Given the description of an element on the screen output the (x, y) to click on. 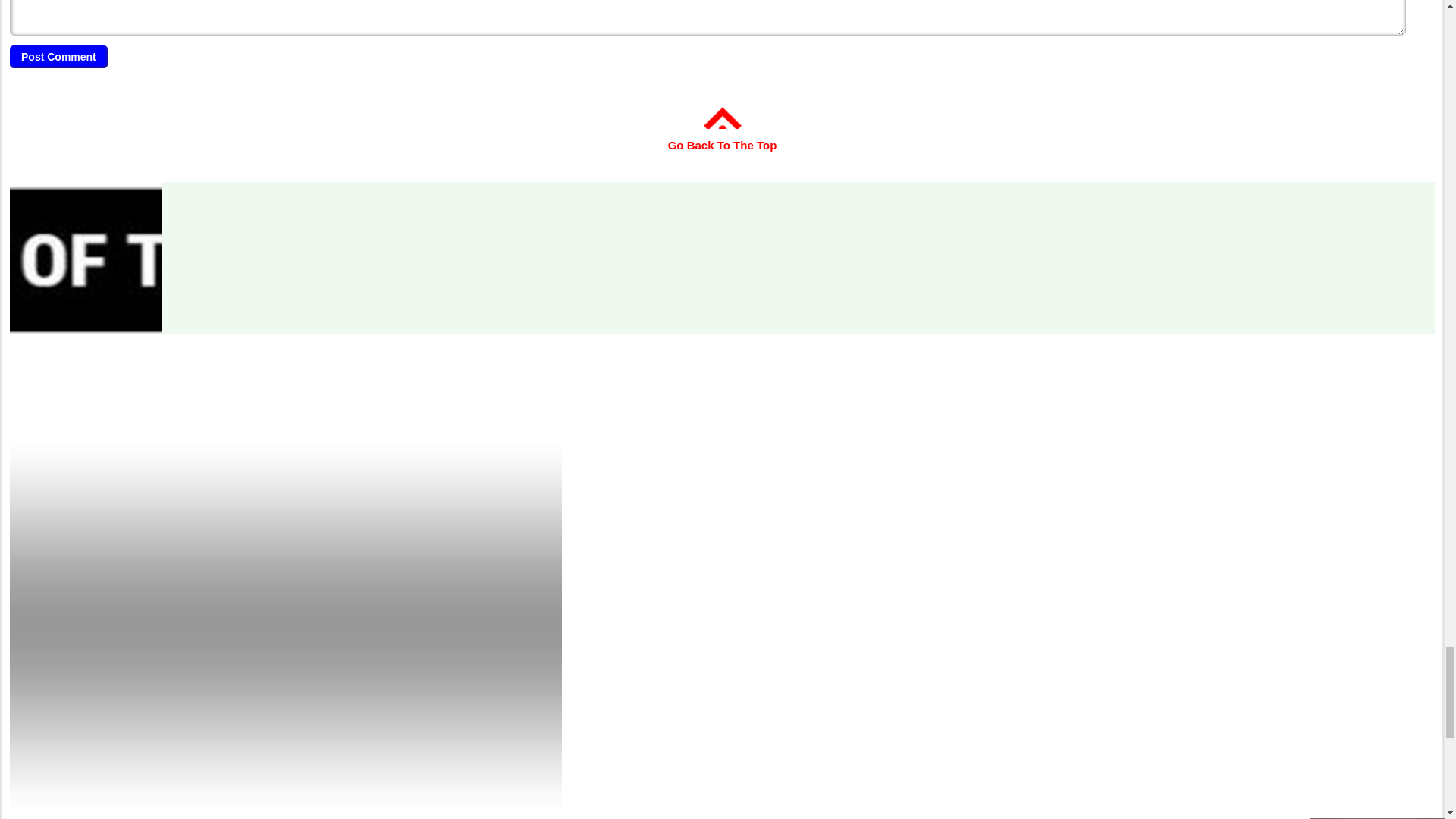
Go Back To The Top (722, 134)
Post Comment (58, 56)
Post Comment (58, 56)
